Given the description of an element on the screen output the (x, y) to click on. 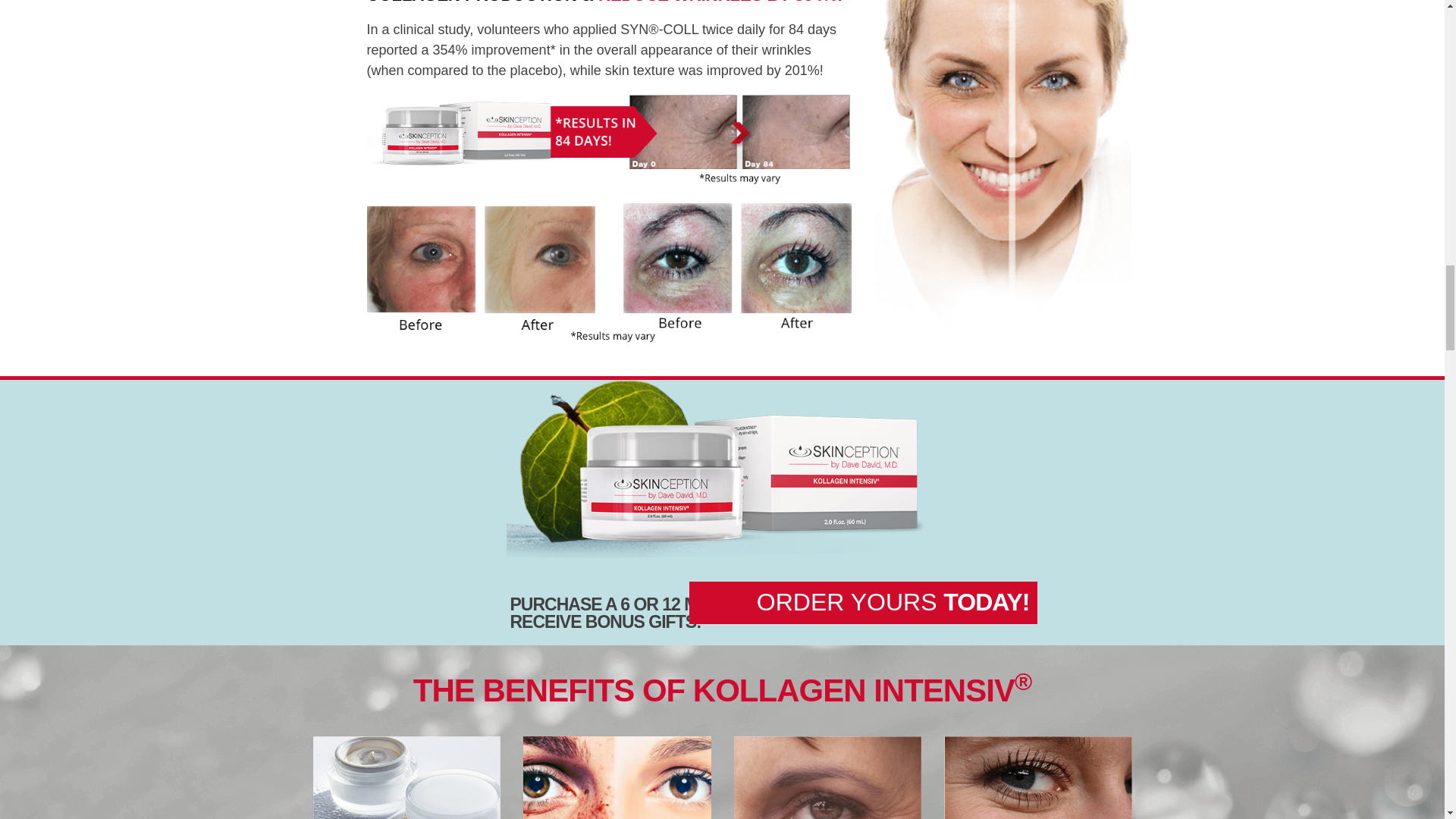
ORDER YOURS TODAY! (862, 602)
